Given the description of an element on the screen output the (x, y) to click on. 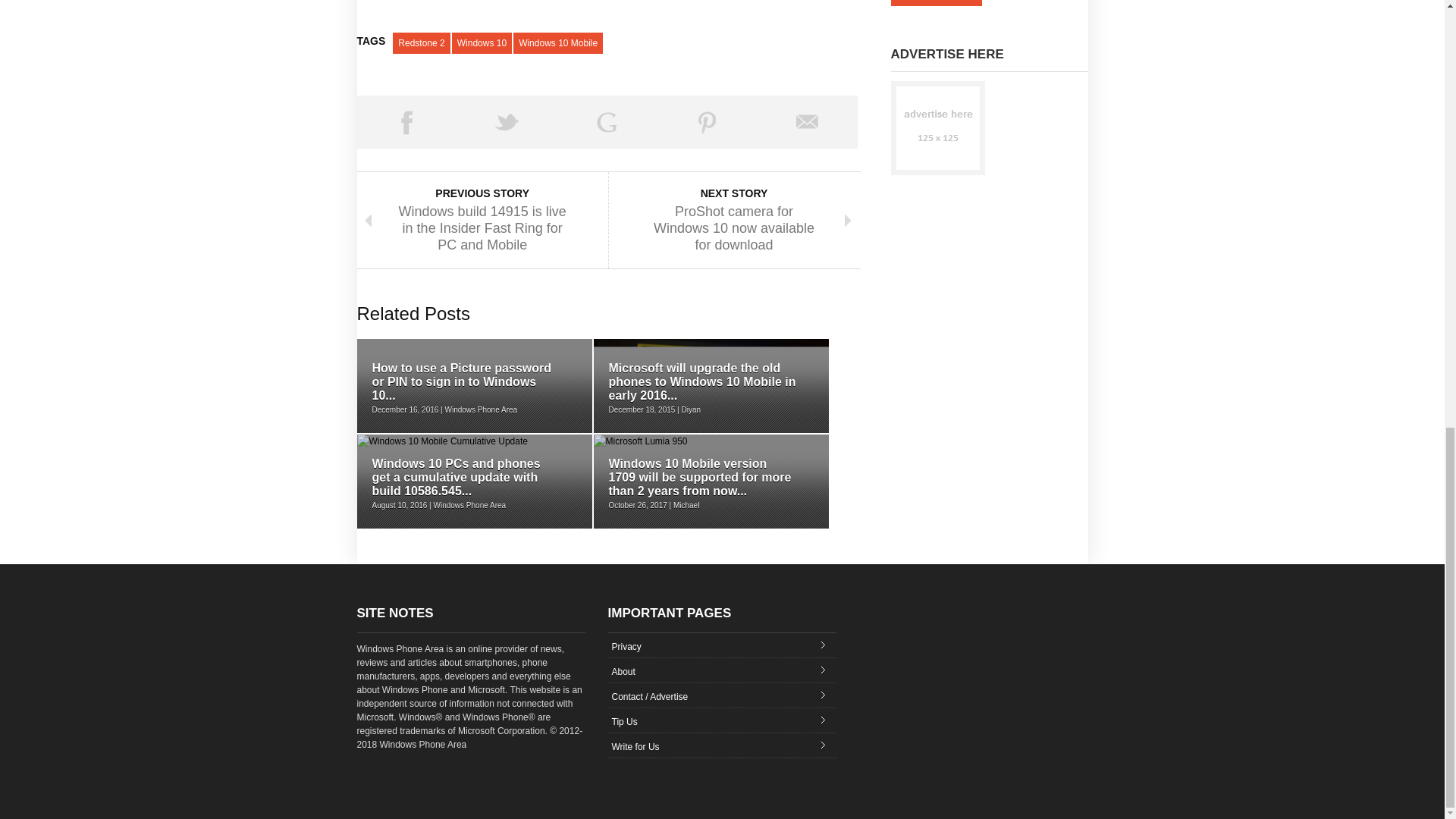
Redstone 2 (421, 43)
Windows 10 (481, 43)
Windows 10 Mobile (557, 43)
Share on Google Plus (607, 121)
Tweet This (507, 121)
Pin This (707, 121)
Share on Facebook (406, 121)
